Given the description of an element on the screen output the (x, y) to click on. 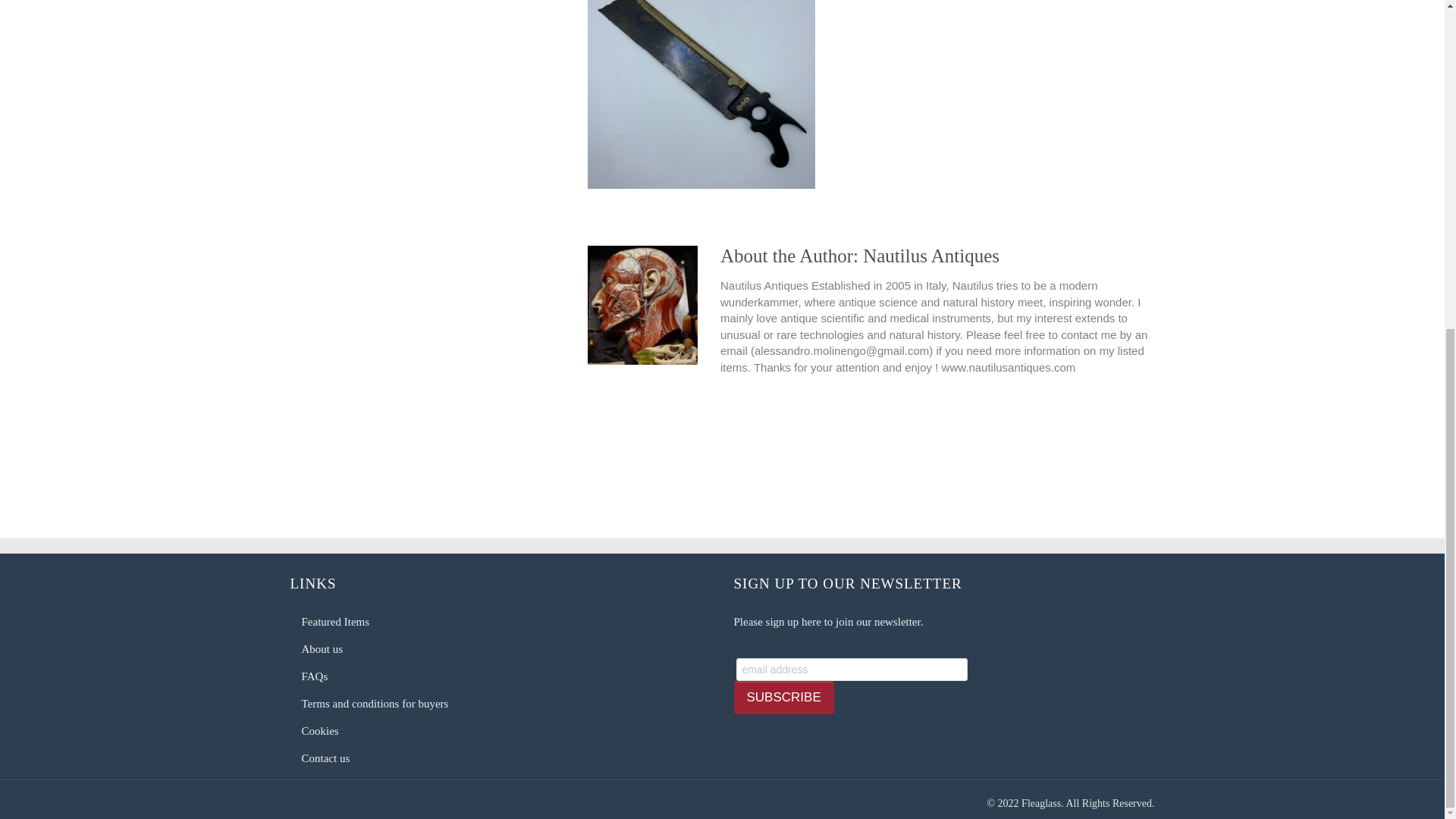
Subscribe (783, 697)
